Given the description of an element on the screen output the (x, y) to click on. 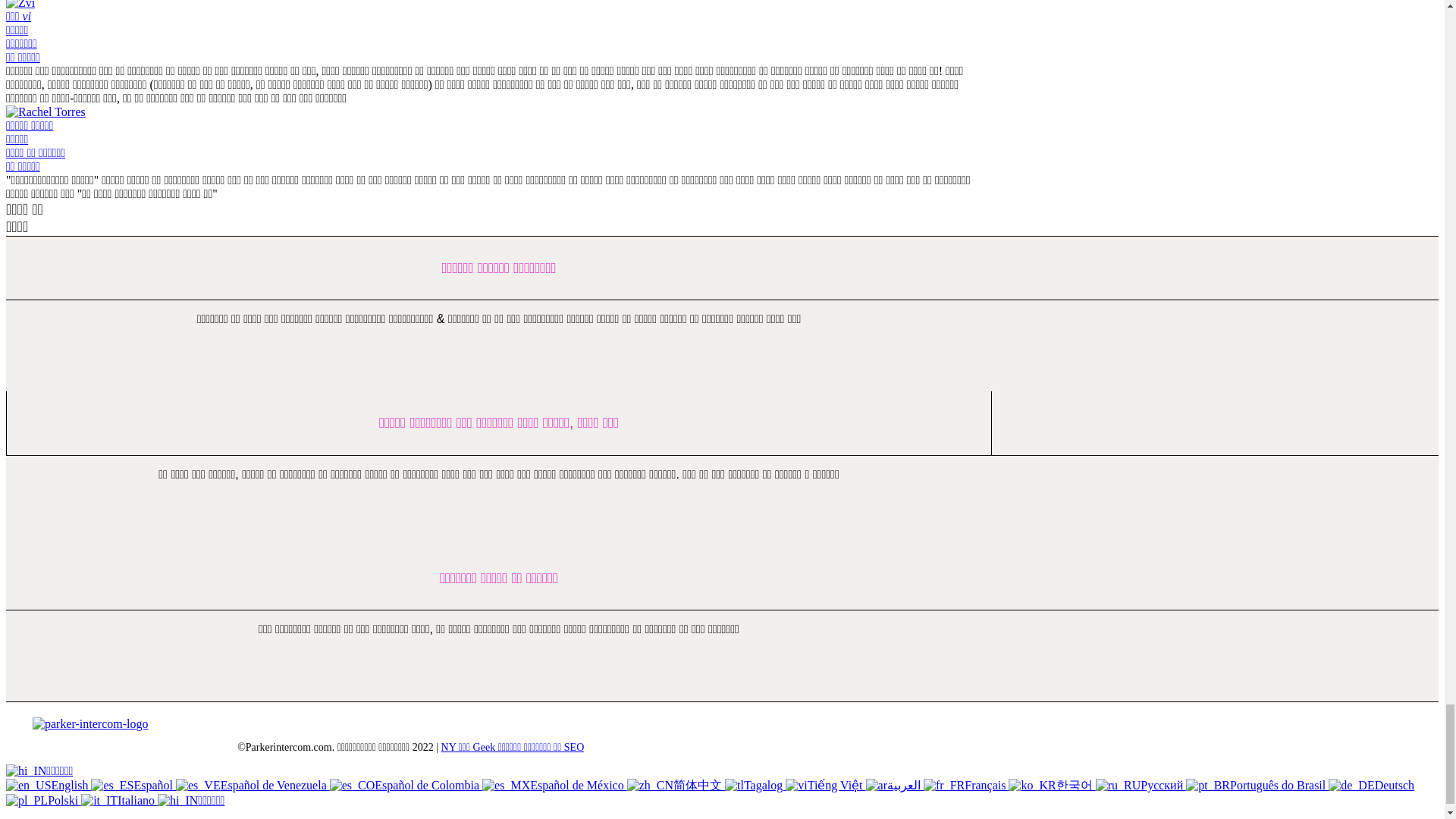
English (47, 784)
English (27, 785)
